Given the description of an element on the screen output the (x, y) to click on. 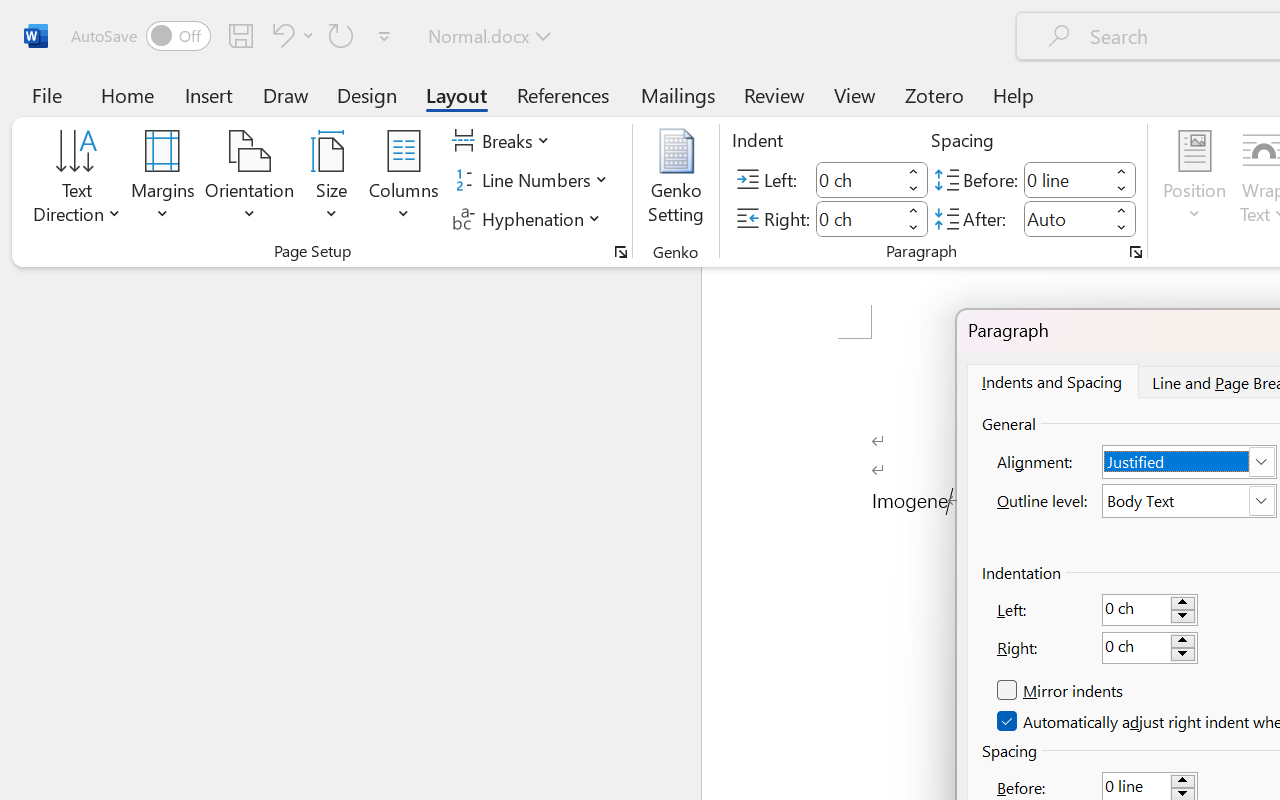
Alignment: (1189, 461)
Outline level: (1189, 501)
Hyphenation (529, 218)
Text Direction (77, 179)
Size (331, 179)
Margins (163, 179)
Less (1121, 227)
Indent Left (858, 179)
Page Setup... (621, 252)
Line Numbers (532, 179)
